Given the description of an element on the screen output the (x, y) to click on. 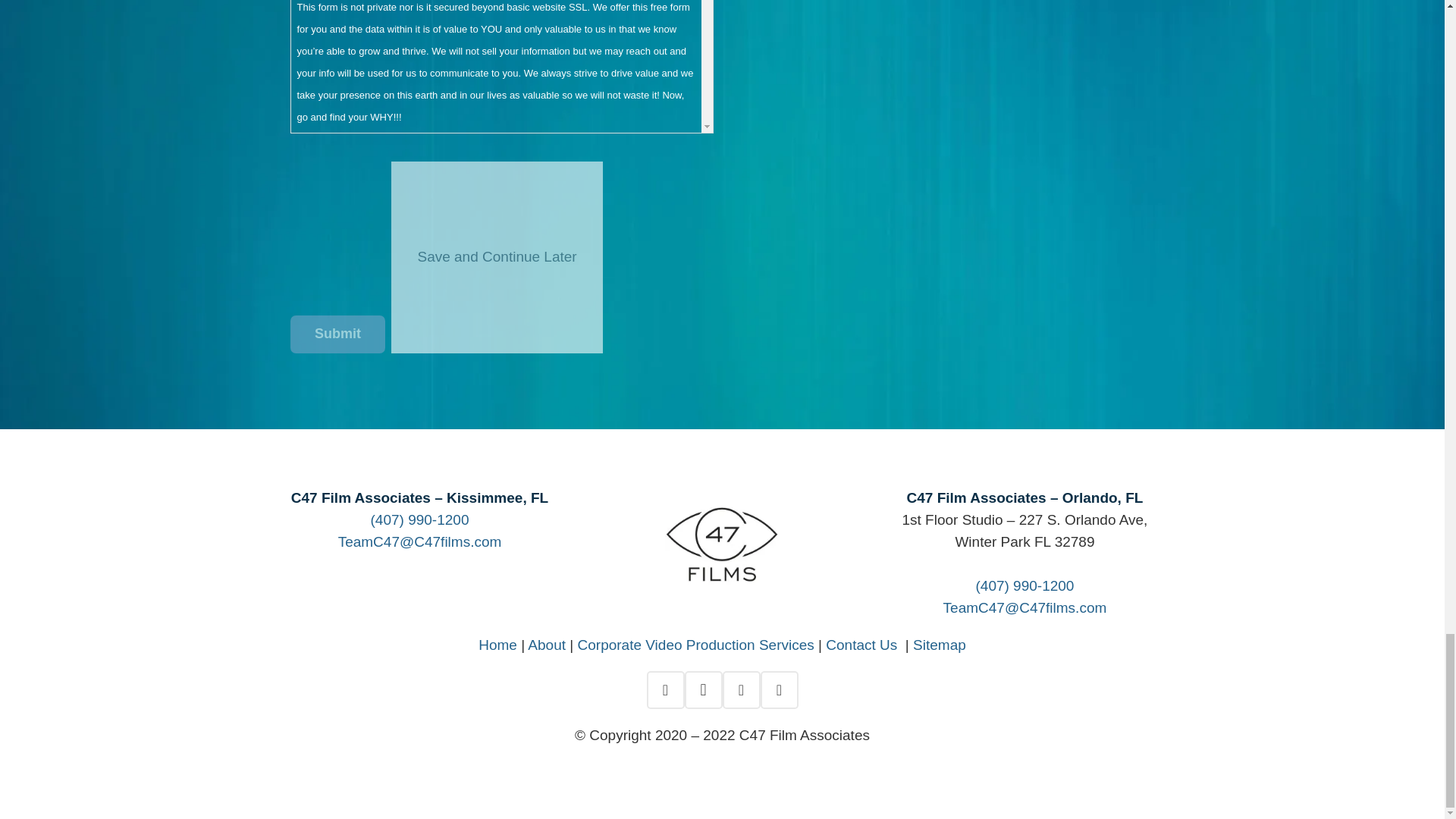
Instagram (703, 689)
Submit (337, 333)
LinkedIn (741, 689)
Sitemap (939, 644)
Submit (337, 333)
Google (778, 689)
Home (497, 644)
Corporate Video Production Services (695, 644)
Save and Continue Later (496, 256)
Facebook (665, 689)
Contact Us  (863, 644)
About (546, 644)
